Given the description of an element on the screen output the (x, y) to click on. 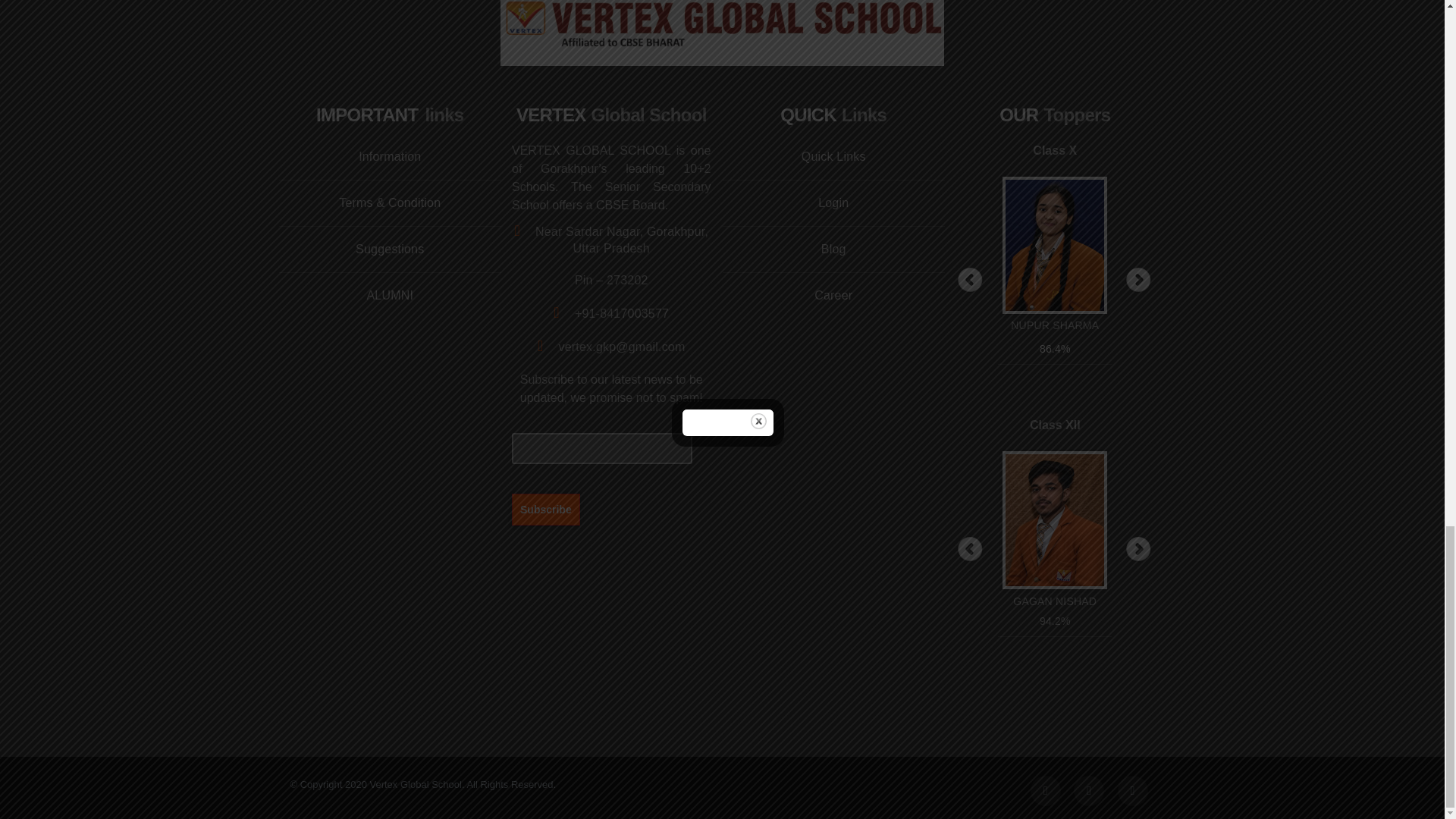
Subscribe (545, 508)
